Given the description of an element on the screen output the (x, y) to click on. 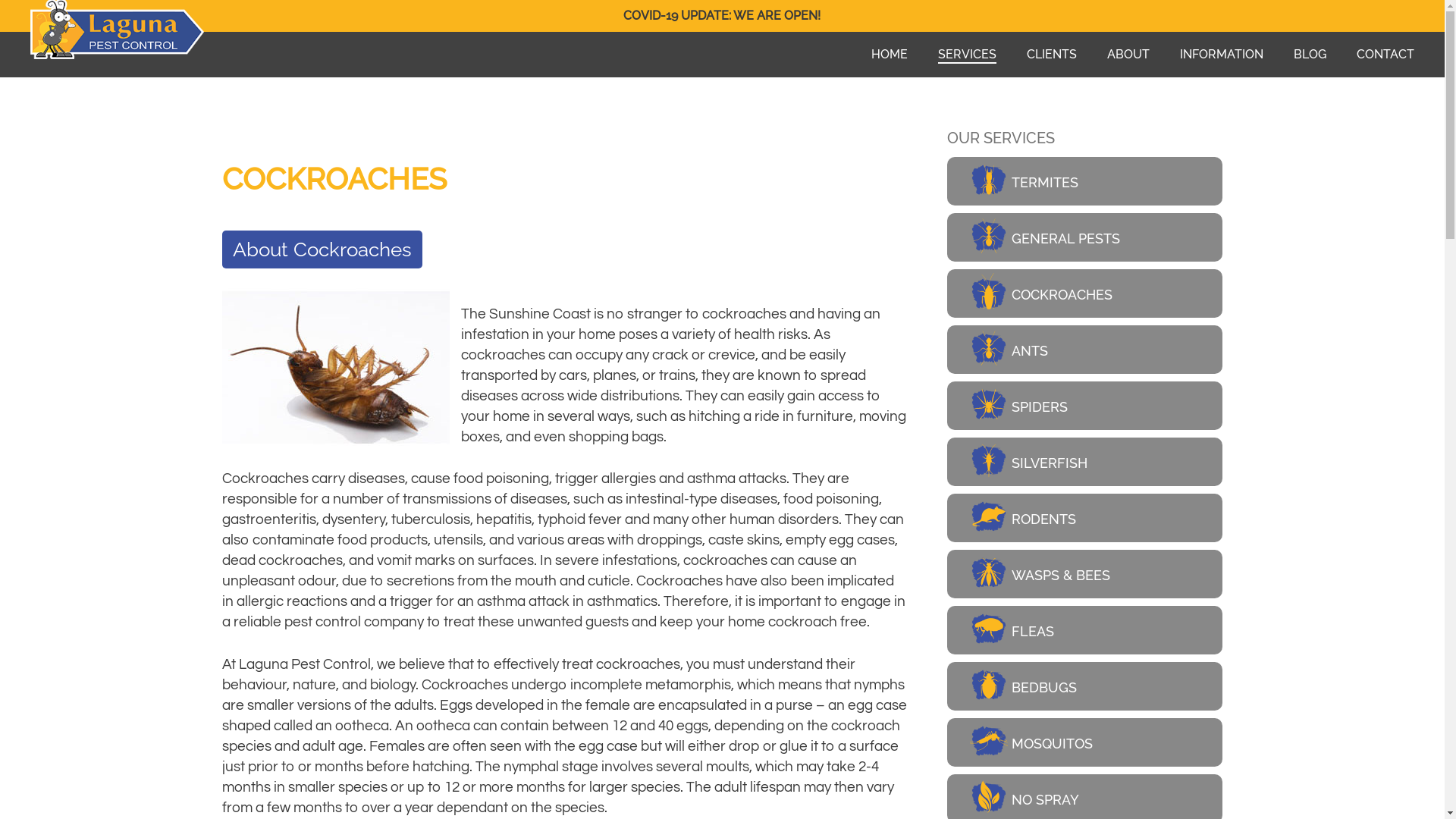
COCKROACHES Element type: text (1084, 293)
BEDBUGS Element type: text (1084, 686)
ABOUT Element type: text (1128, 54)
INFORMATION Element type: text (1221, 54)
CONTACT Element type: text (1385, 54)
CLIENTS Element type: text (1051, 54)
SILVERFISH Element type: text (1084, 461)
HOME Element type: text (889, 54)
WASPS & BEES Element type: text (1084, 573)
BLOG Element type: text (1309, 54)
SPIDERS Element type: text (1084, 405)
RODENTS Element type: text (1084, 517)
MOSQUITOS Element type: text (1084, 742)
SERVICES Element type: text (967, 54)
TERMITES Element type: text (1084, 180)
GENERAL PESTS Element type: text (1084, 237)
COVID-19 UPDATE: WE ARE OPEN! Element type: text (721, 15)
FLEAS Element type: text (1084, 629)
ANTS Element type: text (1084, 349)
